Given the description of an element on the screen output the (x, y) to click on. 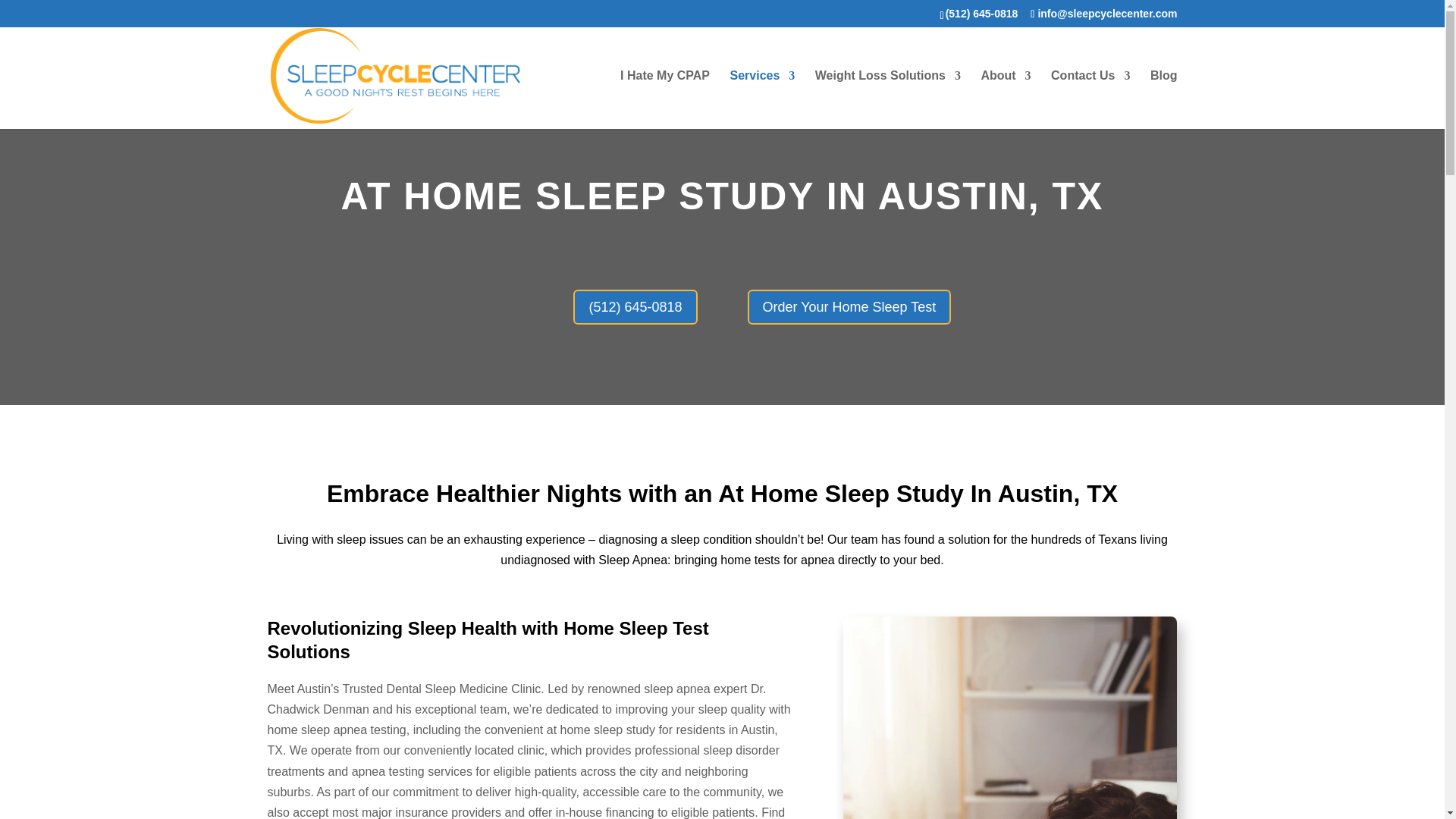
Contact Us (1090, 99)
Weight Loss Solutions (887, 99)
Order Your Home Sleep Test (850, 306)
I Hate My CPAP (665, 99)
Services (761, 99)
